Given the description of an element on the screen output the (x, y) to click on. 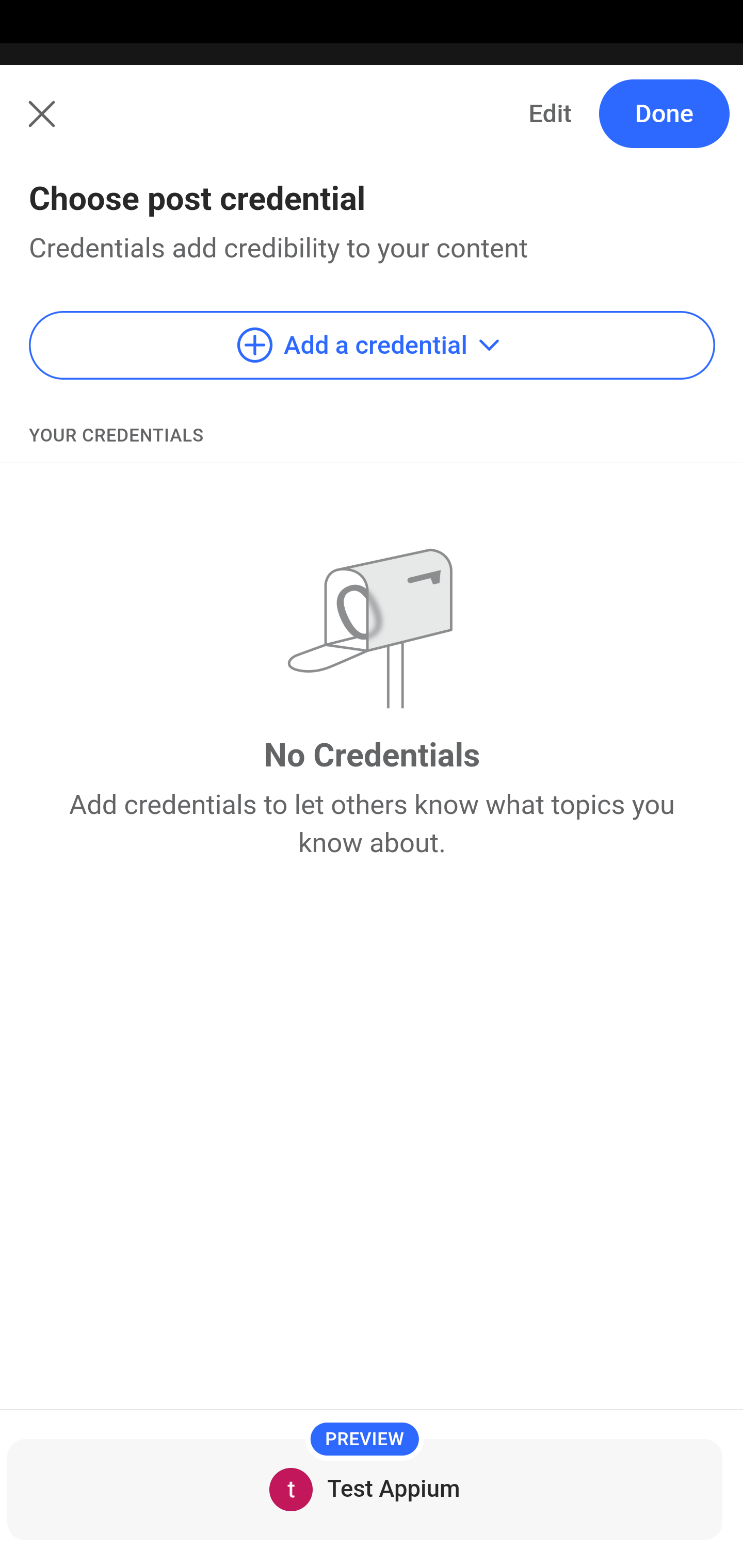
Me Home Search Add (371, 125)
